Given the description of an element on the screen output the (x, y) to click on. 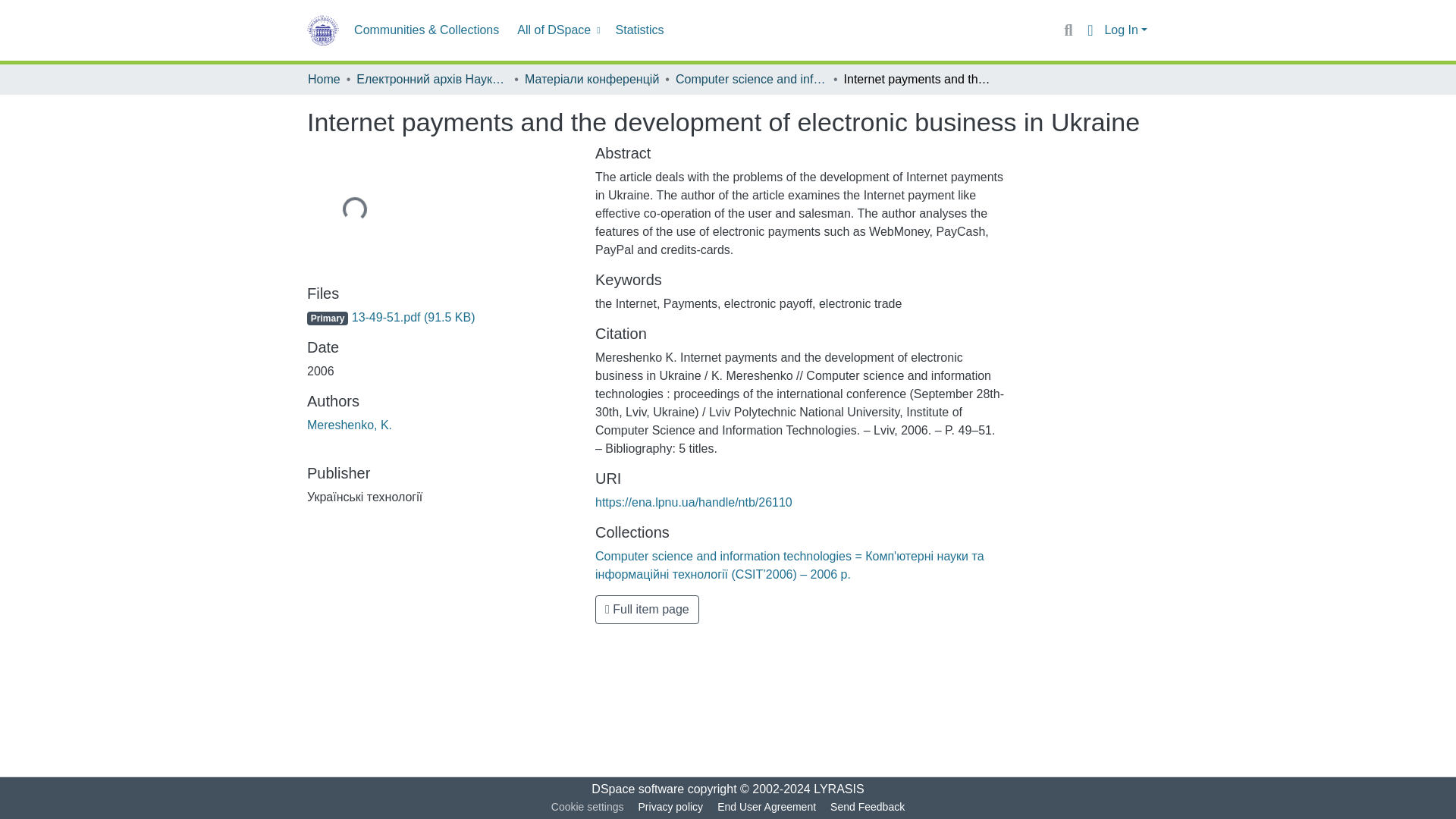
Full item page (646, 609)
All of DSpace (556, 30)
Statistics (639, 30)
Mereshenko, K. (349, 424)
Send Feedback (867, 806)
Search (1067, 30)
Home (323, 79)
Log In (1125, 29)
DSpace software (637, 788)
Language switch (1089, 30)
